Given the description of an element on the screen output the (x, y) to click on. 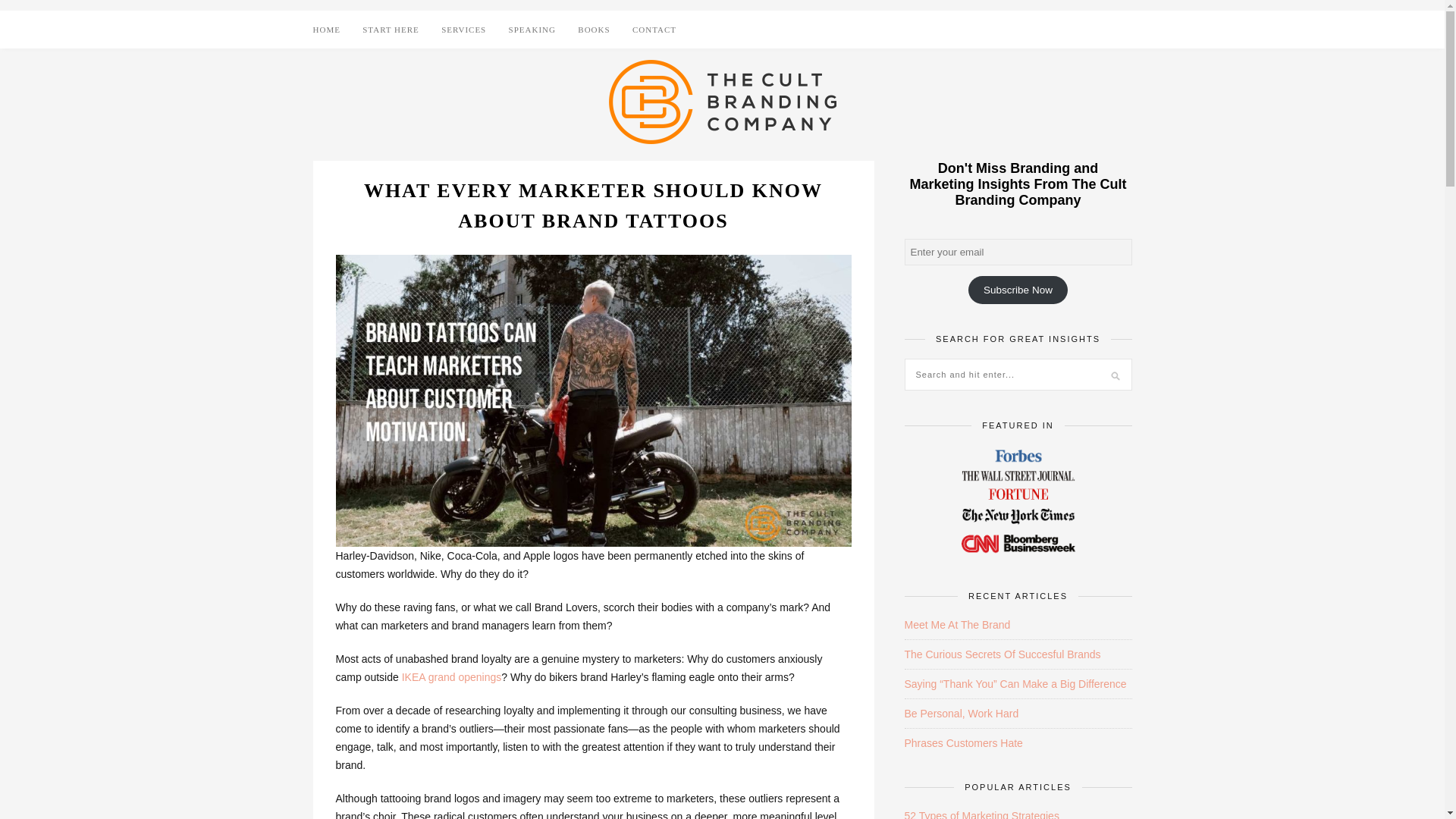
The Curious Secrets Of Succesful Brands (1002, 654)
Phrases Customers Hate (963, 743)
52 Types of Marketing Strategies (981, 814)
CONTACT (654, 29)
52 Types of Marketing Strategies (981, 814)
START HERE (390, 29)
BOOKS (594, 29)
SPEAKING (532, 29)
Subscribe Now (1017, 289)
HOME (326, 29)
Enter your email (1017, 252)
SERVICES (463, 29)
IKEA grand openings (451, 676)
Be Personal, Work Hard (960, 713)
Meet Me At The Brand (957, 624)
